Given the description of an element on the screen output the (x, y) to click on. 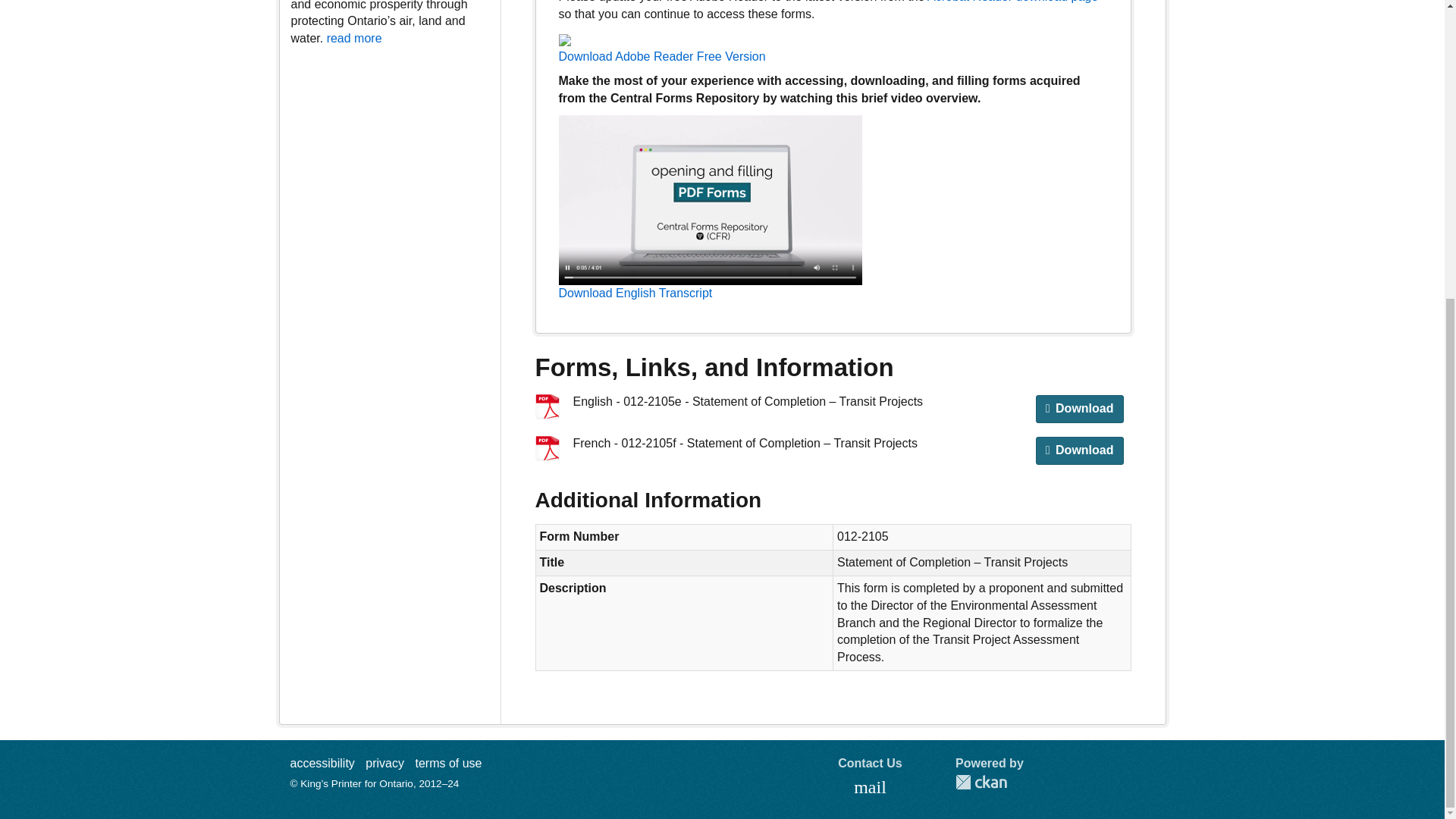
terms of use (447, 762)
Acrobat Reader download page (1012, 1)
Click to open the video in a new browser window (709, 200)
privacy (384, 762)
mail (870, 788)
accessibility (321, 762)
read more (353, 38)
Download (1079, 408)
Download Adobe Reader Free Version (661, 47)
Download (1079, 450)
